Given the description of an element on the screen output the (x, y) to click on. 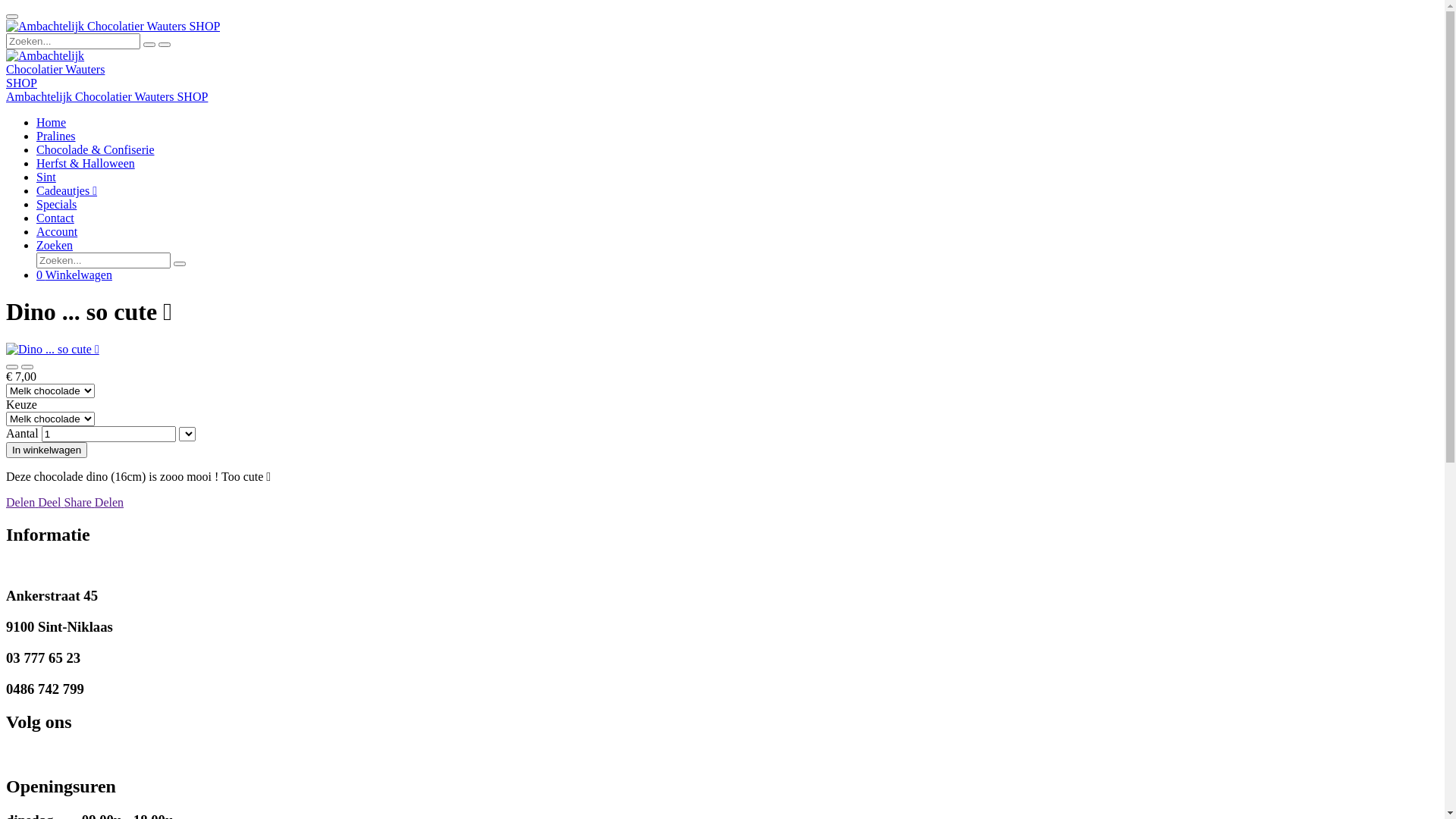
Pralines Element type: text (55, 135)
Sint Element type: text (46, 176)
Delen Element type: text (21, 501)
Herfst & Halloween Element type: text (85, 162)
Delen Element type: text (108, 501)
Home Element type: text (50, 122)
In winkelwagen Element type: text (46, 450)
Ambachtelijk Chocolatier Wauters SHOP Element type: text (106, 96)
Ambachtelijk Chocolatier Wauters SHOP Element type: hover (58, 69)
Specials Element type: text (56, 203)
0 Winkelwagen Element type: text (74, 274)
Contact Element type: text (55, 217)
Deel Element type: text (50, 501)
Zoeken Element type: text (54, 244)
Chocolade & Confiserie Element type: text (95, 149)
Ambachtelijk Chocolatier Wauters SHOP Element type: hover (112, 26)
Account Element type: text (56, 231)
Share Element type: text (78, 501)
